Given the description of an element on the screen output the (x, y) to click on. 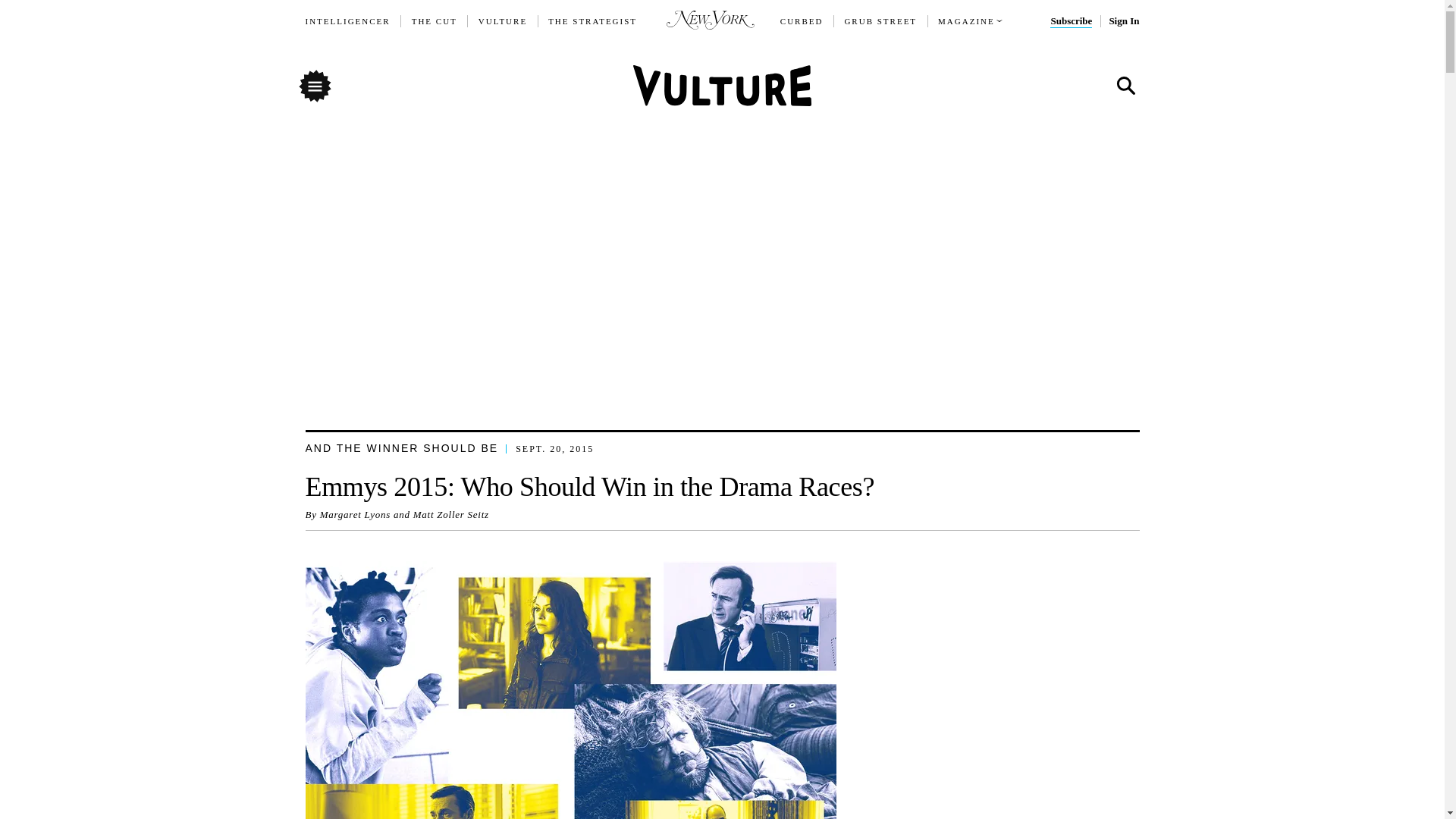
Subscribe (1070, 21)
GRUB STREET (880, 21)
THE CUT (434, 21)
VULTURE (503, 21)
Search (1124, 86)
CURBED (802, 21)
MAGAZINE (965, 21)
THE STRATEGIST (592, 21)
Menu (314, 84)
INTELLIGENCER (347, 21)
